Given the description of an element on the screen output the (x, y) to click on. 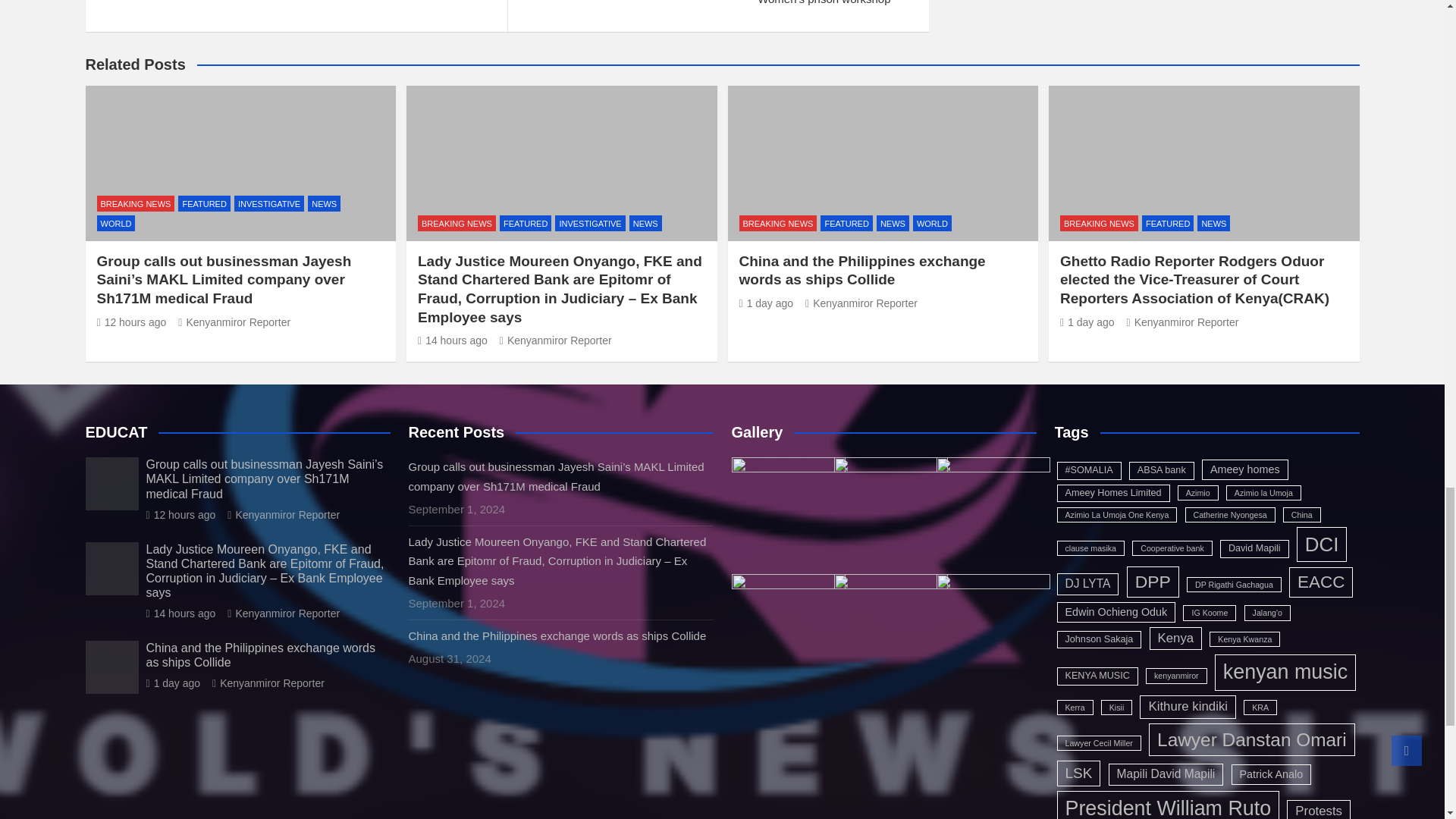
INVESTIGATIVE (269, 203)
China and the Philippines exchange words as ships Collide (765, 303)
China and the Philippines exchange words as ships Collide (172, 683)
BREAKING NEWS (135, 203)
Swedden Officially Joins Nato Alliance (295, 6)
FEATURED (203, 203)
NEWS (323, 203)
